Given the description of an element on the screen output the (x, y) to click on. 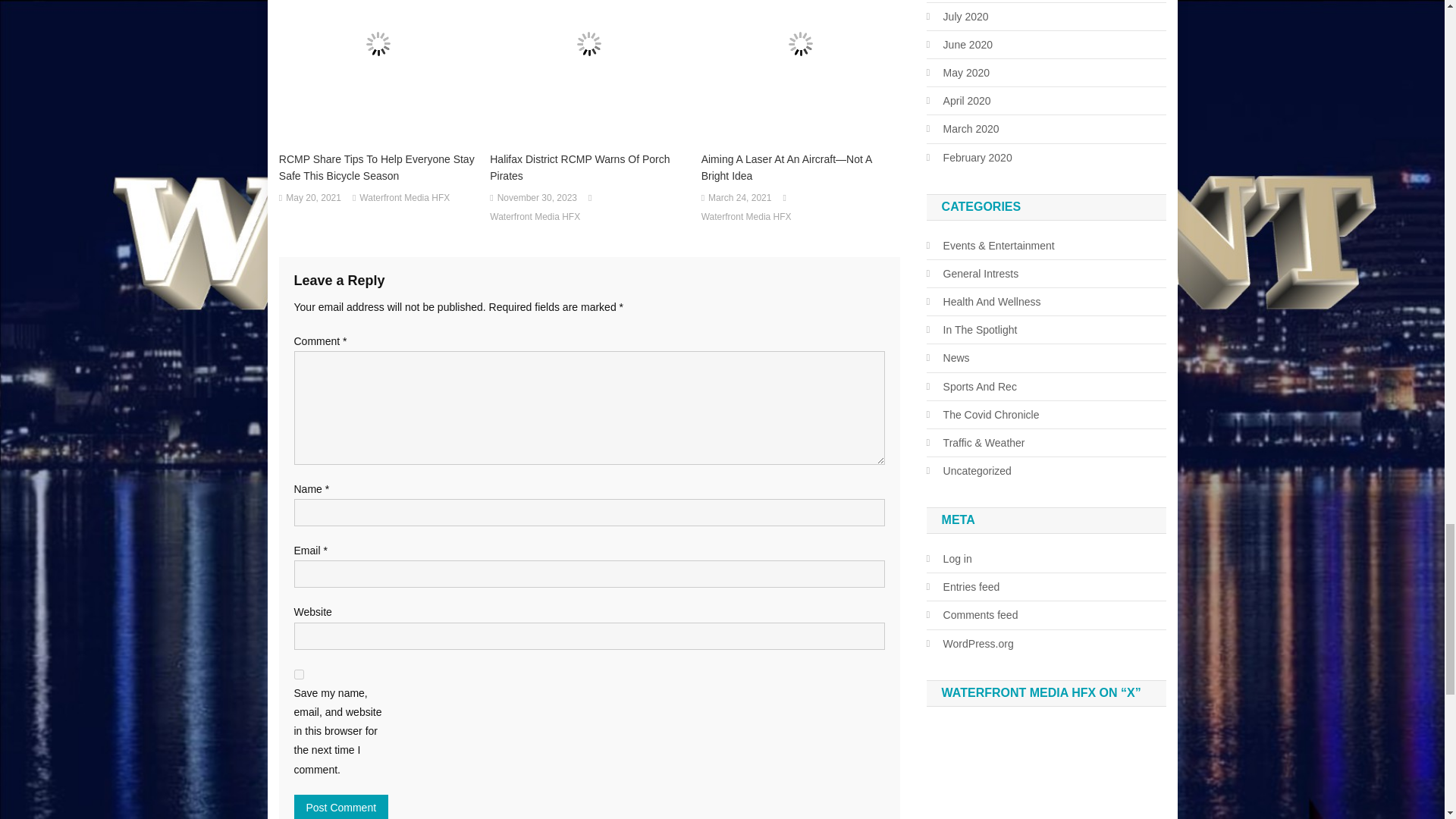
Waterfront Media HFX (534, 217)
Post Comment (341, 806)
Halifax District RCMP Warns Of Porch Pirates (588, 167)
Waterfront Media HFX (404, 198)
Waterfront Media HFX (746, 217)
November 30, 2023 (536, 198)
May 20, 2021 (312, 198)
March 24, 2021 (739, 198)
yes (299, 674)
Post Comment (341, 806)
